Given the description of an element on the screen output the (x, y) to click on. 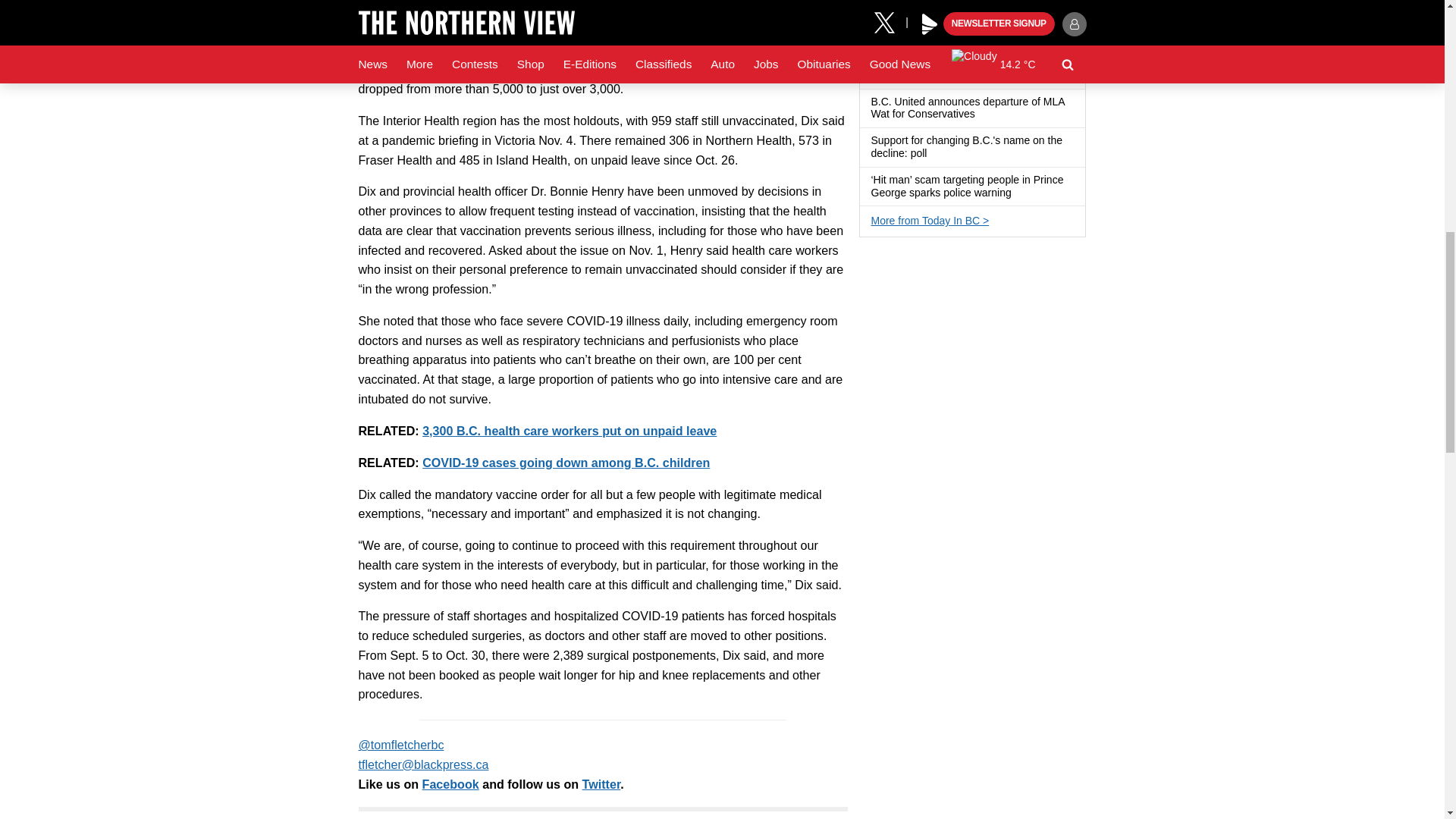
Has a gallery (984, 36)
